Given the description of an element on the screen output the (x, y) to click on. 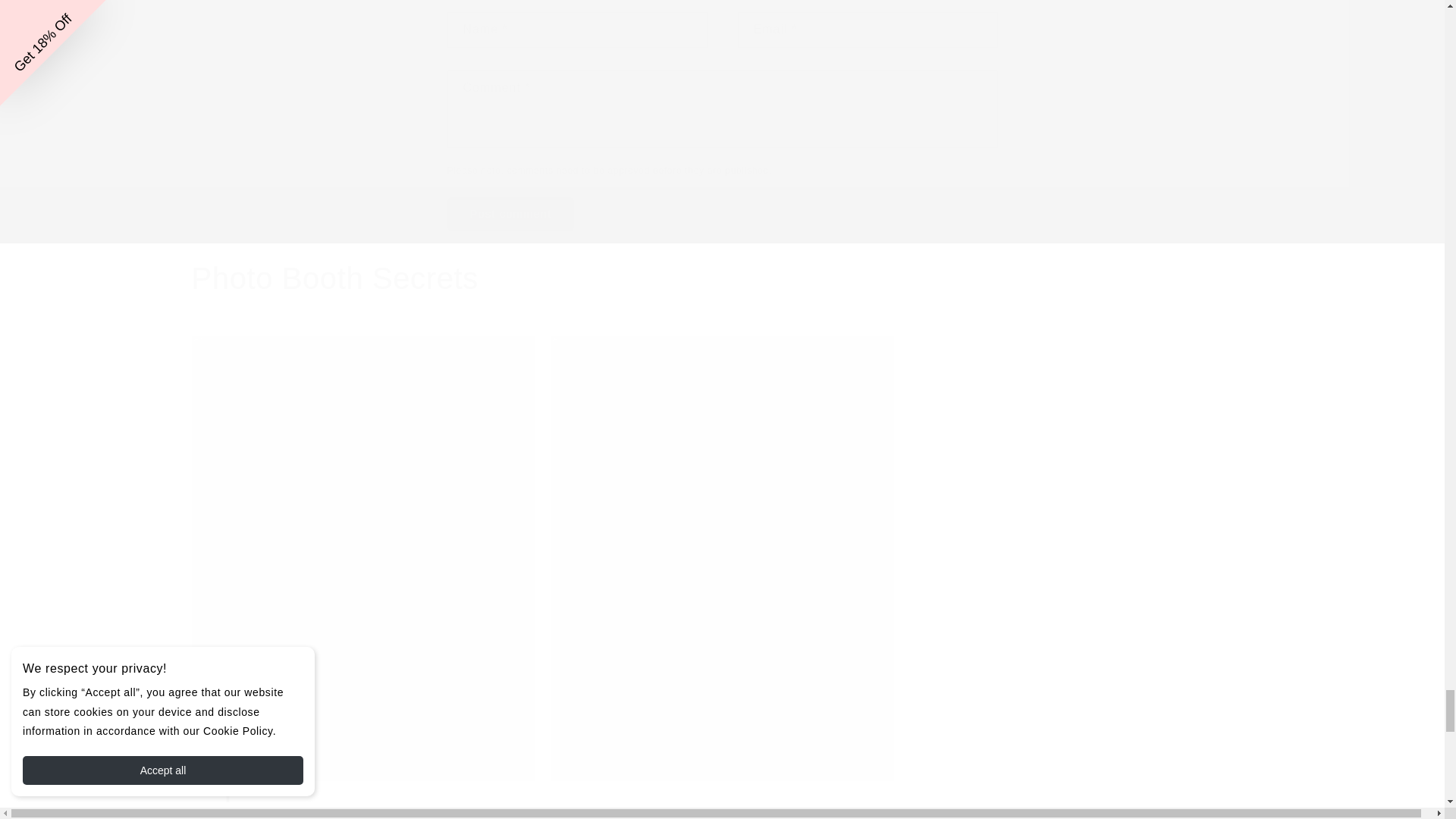
Photo Booth Secrets (333, 278)
Topics (234, 785)
Post comment (510, 213)
